Given the description of an element on the screen output the (x, y) to click on. 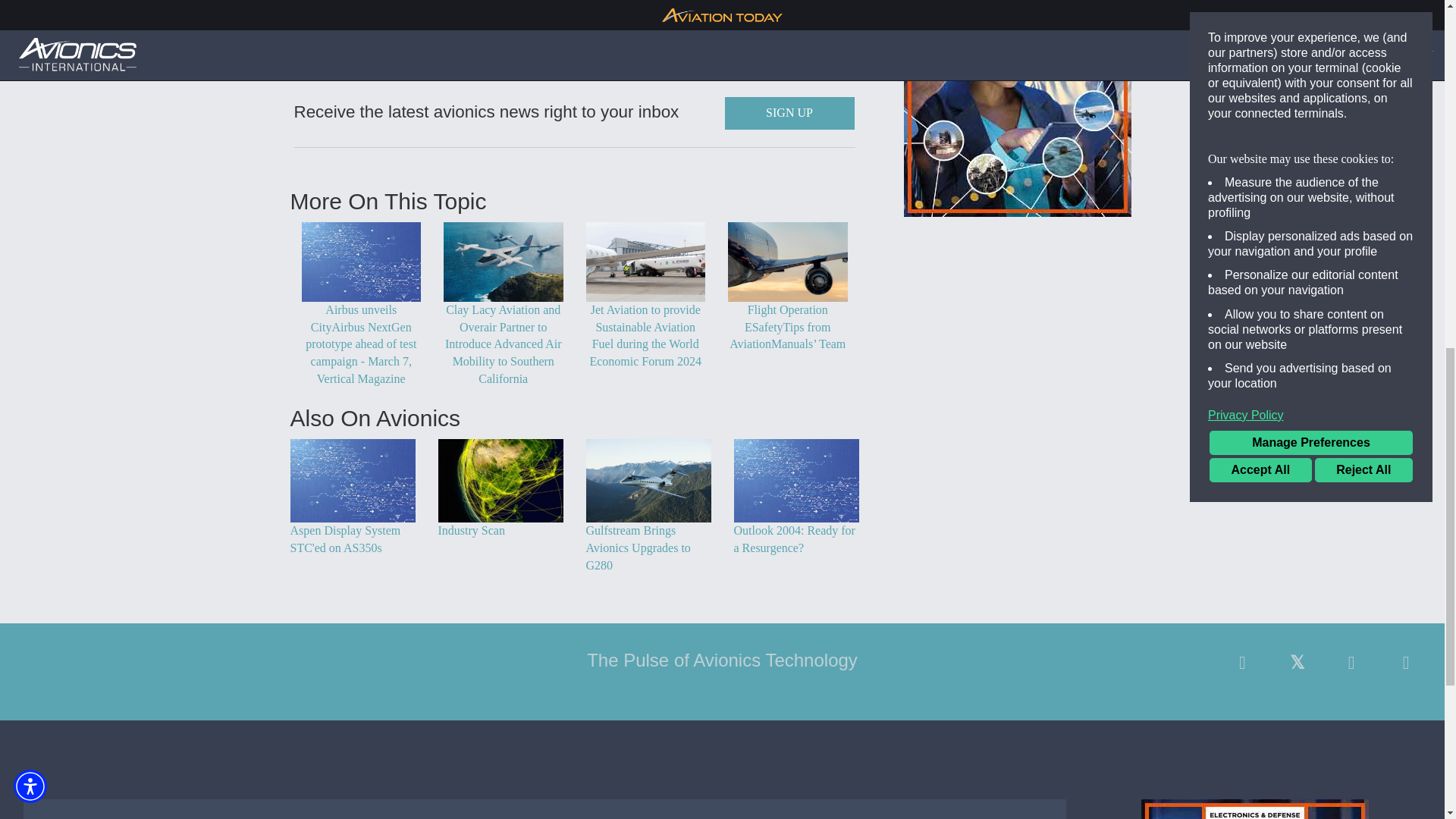
3rd party ad content (1017, 108)
3rd party ad content (1254, 809)
